Given the description of an element on the screen output the (x, y) to click on. 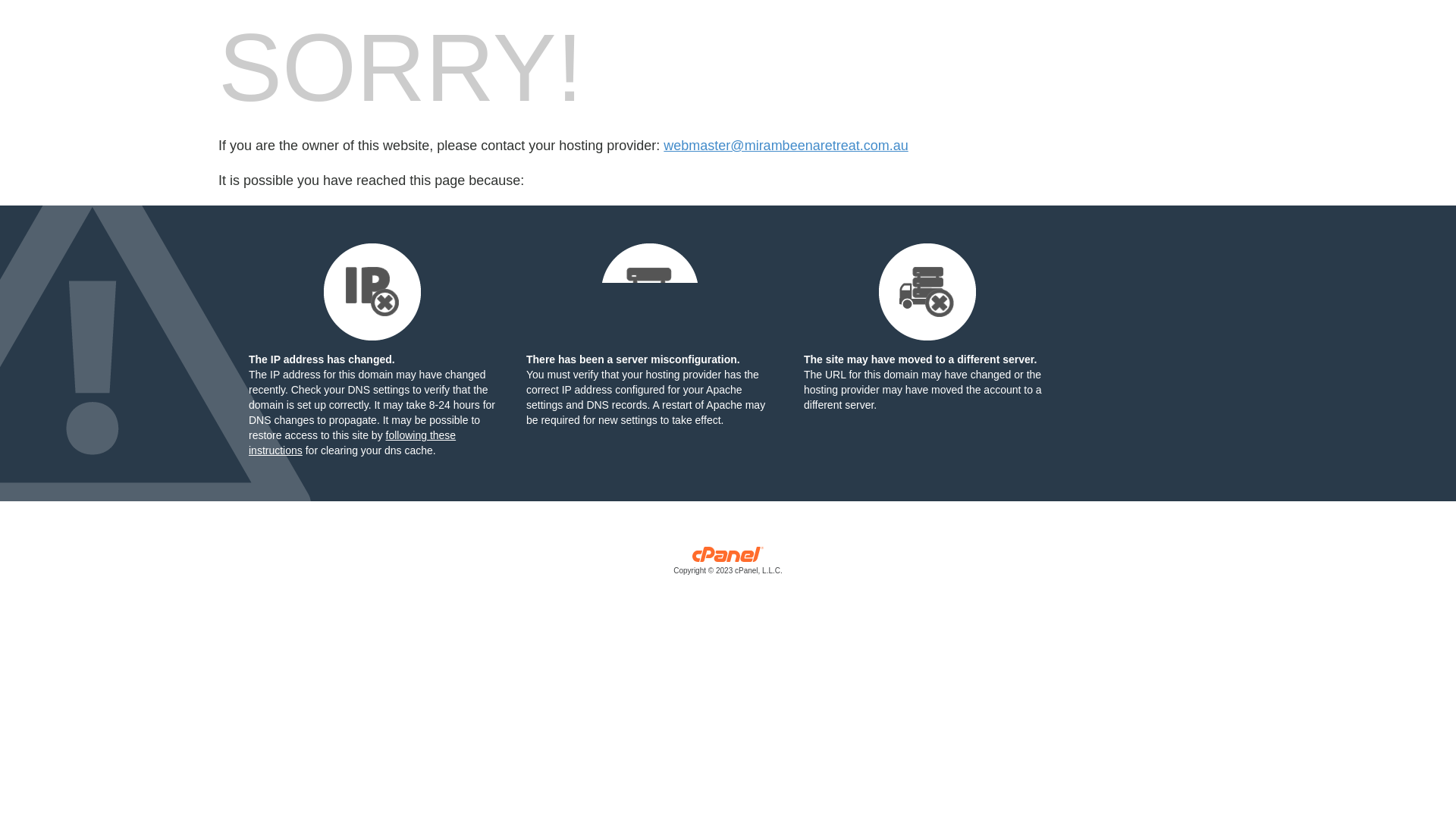
following these instructions Element type: text (351, 442)
webmaster@mirambeenaretreat.com.au Element type: text (785, 145)
